Given the description of an element on the screen output the (x, y) to click on. 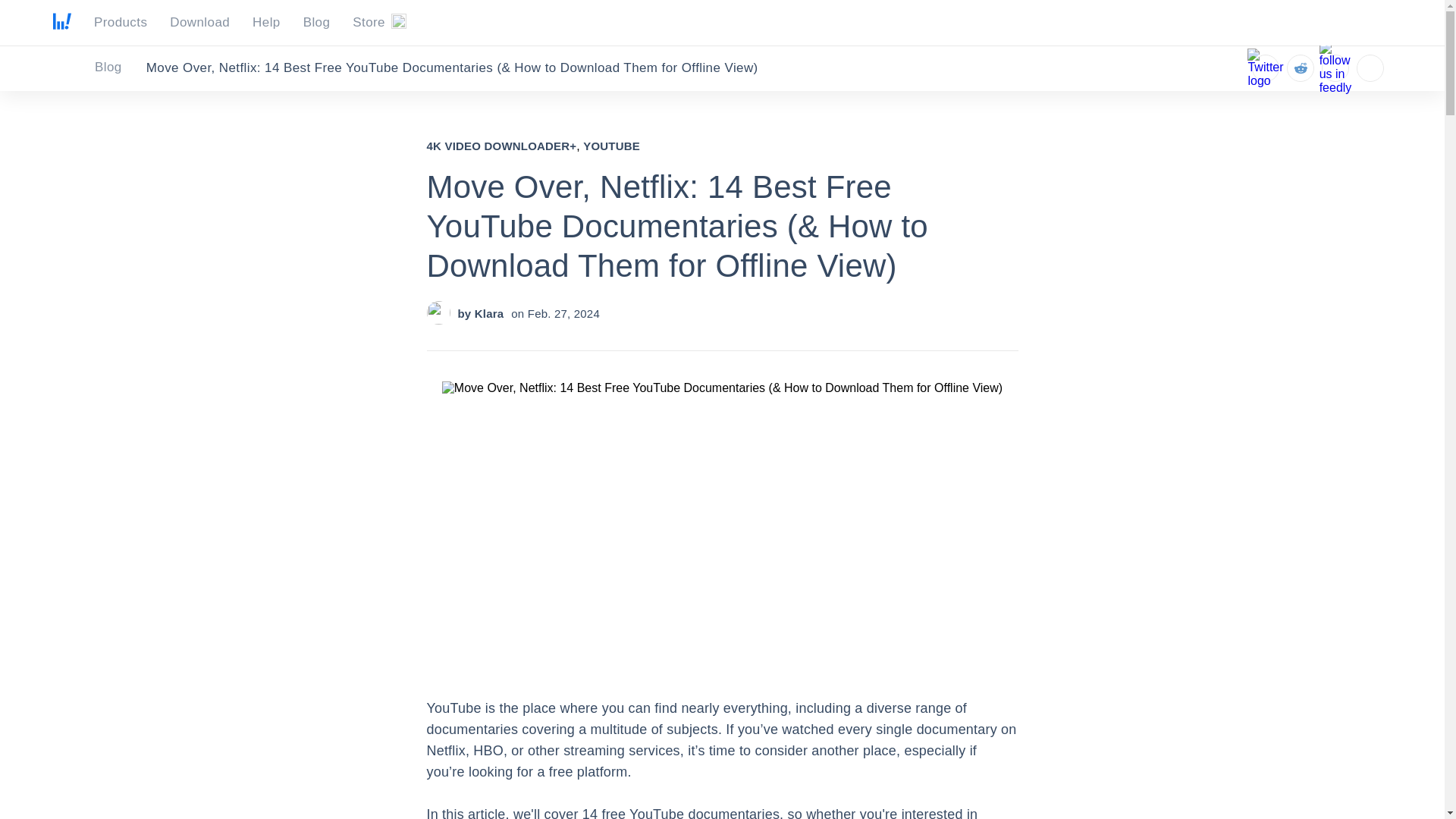
Products (120, 22)
Store (379, 22)
Klara (488, 313)
Help (266, 22)
Blog (116, 67)
Download (200, 22)
Home page (61, 24)
Blog (116, 67)
YOUTUBE (611, 146)
Blog (120, 67)
